Given the description of an element on the screen output the (x, y) to click on. 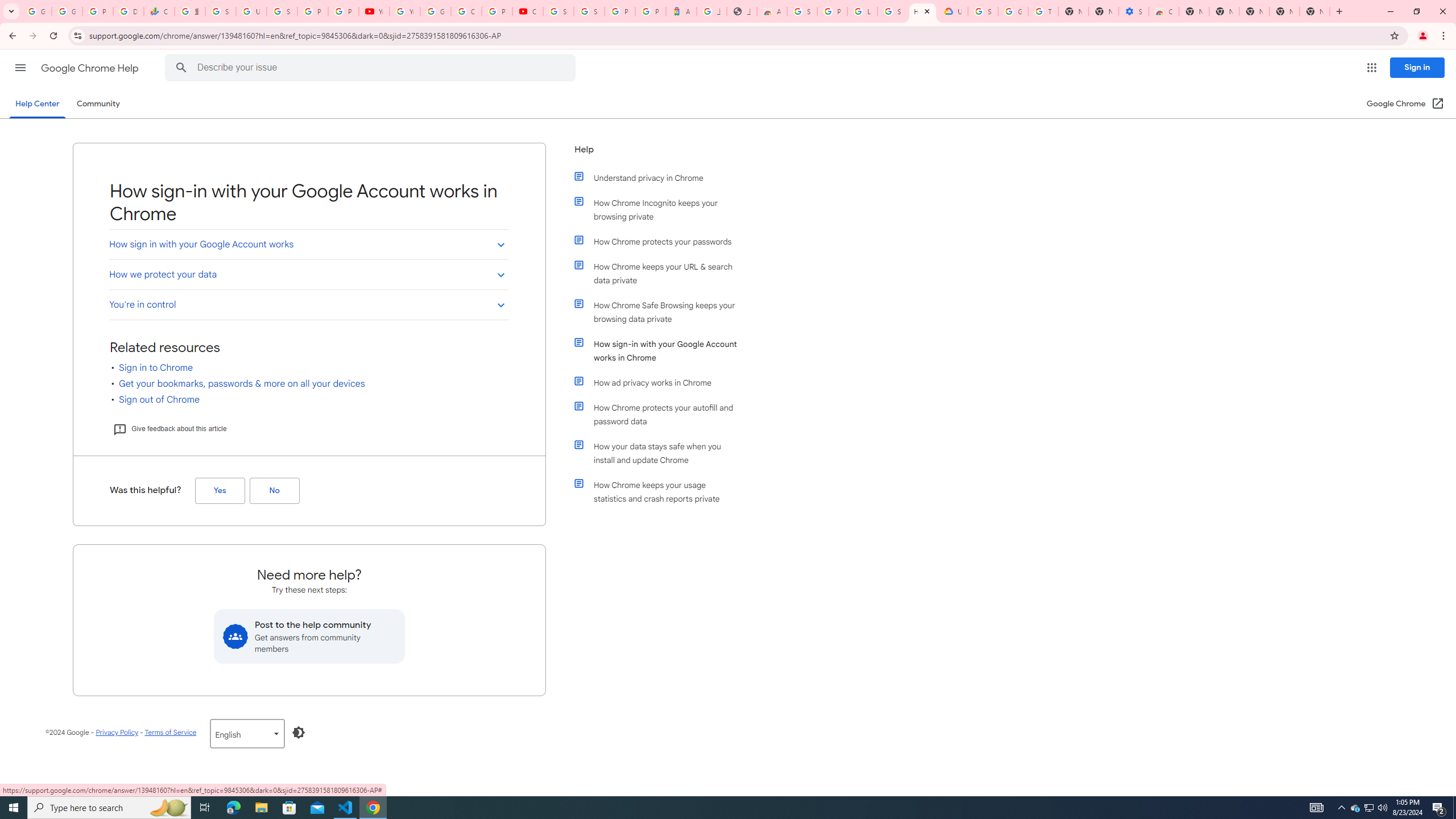
New Tab (1314, 11)
Chrome Web Store - Accessibility extensions (1163, 11)
YouTube (404, 11)
Yes (Was this helpful?) (219, 490)
Atour Hotel - Google hotels (681, 11)
Give feedback about this article (169, 428)
Google Chrome (Open in a new window) (1404, 103)
Google Workspace Admin Community (36, 11)
Community (97, 103)
